Given the description of an element on the screen output the (x, y) to click on. 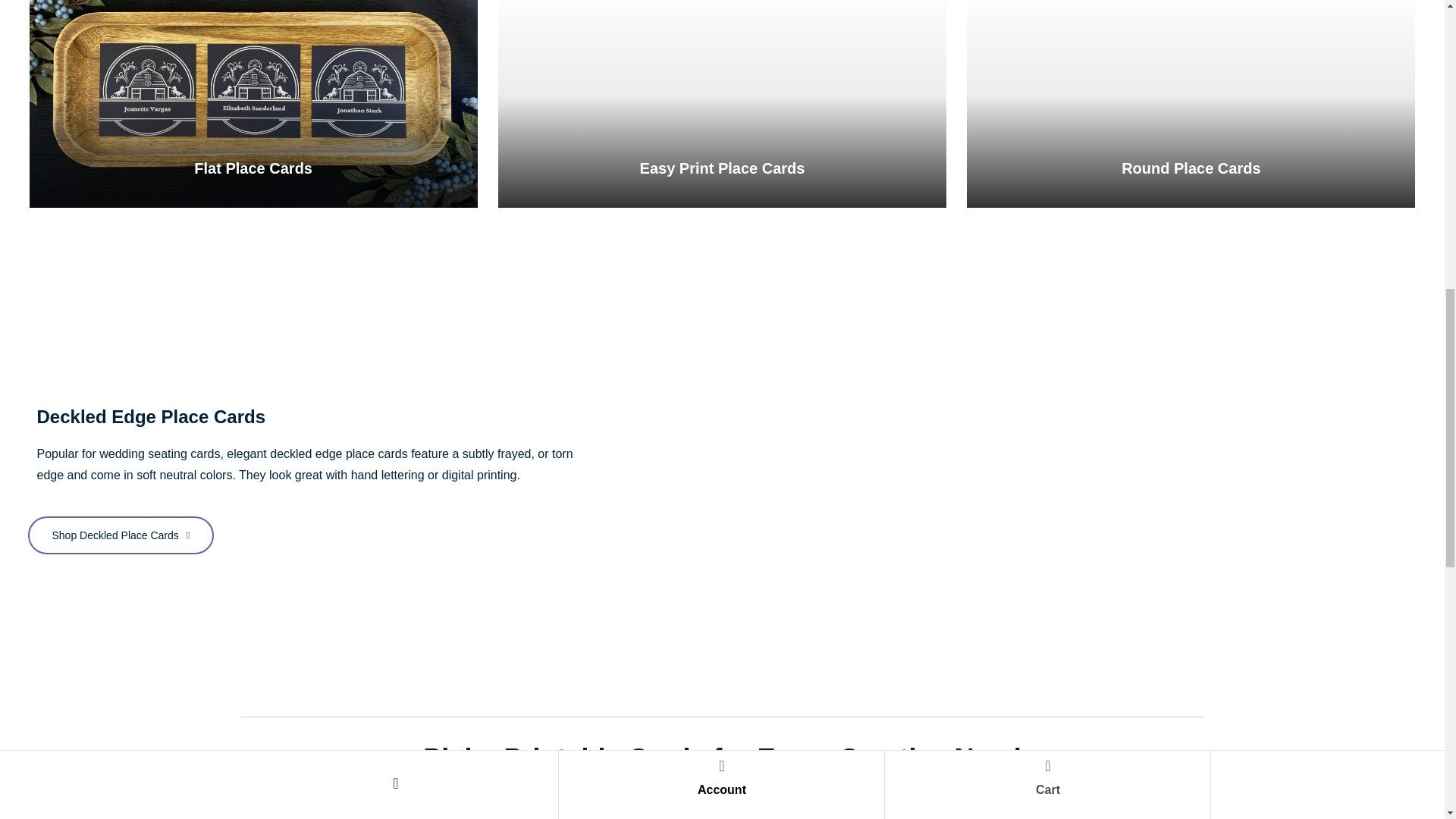
Printable Place Cards (722, 168)
Flat Place Cards (253, 104)
Printable Place Cards (721, 104)
Flat Place Cards (253, 168)
Round Place Cards (1190, 104)
Round Place Cards (1190, 168)
